Given the description of an element on the screen output the (x, y) to click on. 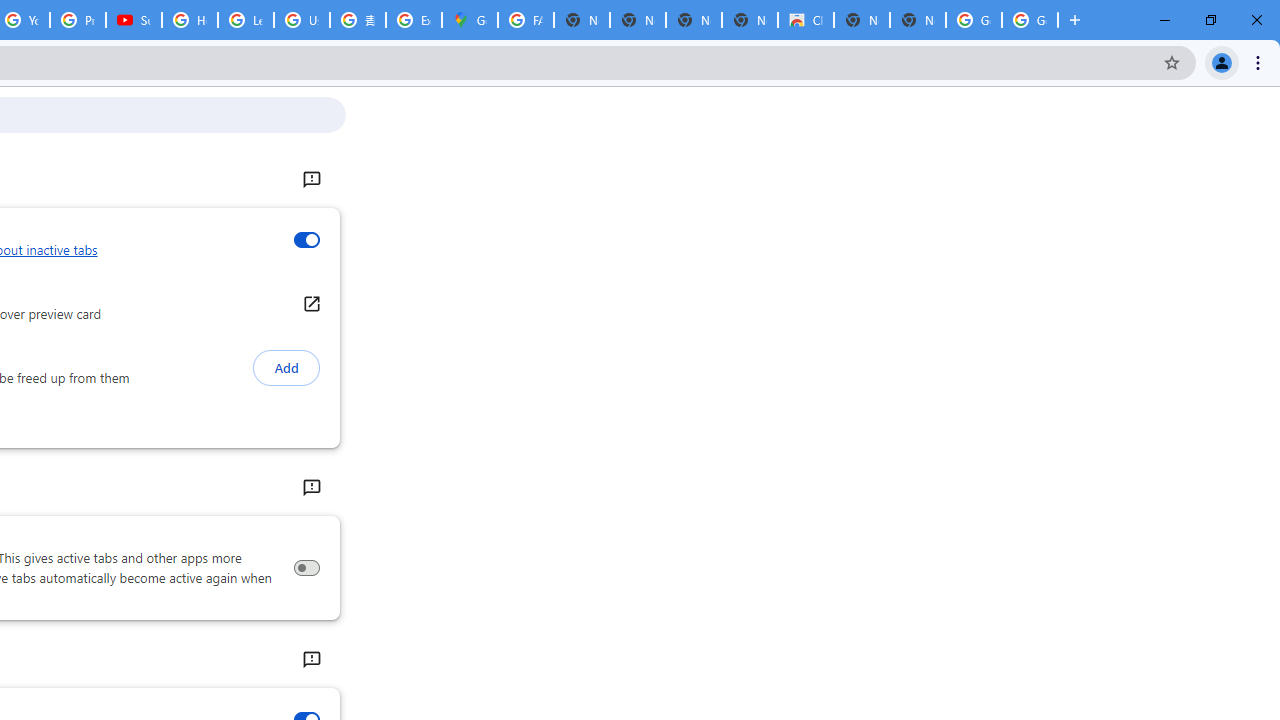
Google Images (973, 20)
New Tab (917, 20)
Google Images (1030, 20)
How Chrome protects your passwords - Google Chrome Help (189, 20)
Subscriptions - YouTube (134, 20)
Explore new street-level details - Google Maps Help (413, 20)
